Given the description of an element on the screen output the (x, y) to click on. 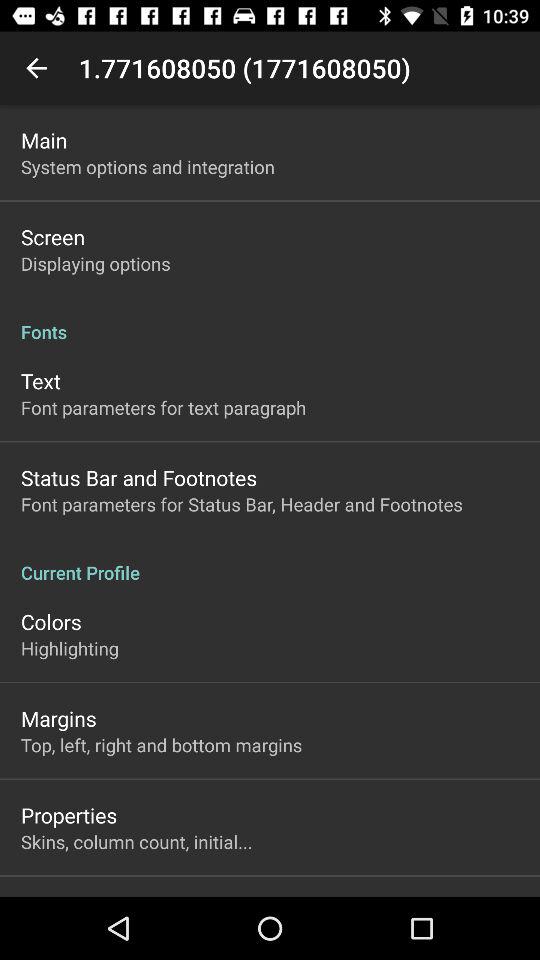
select icon below the margins item (161, 744)
